Given the description of an element on the screen output the (x, y) to click on. 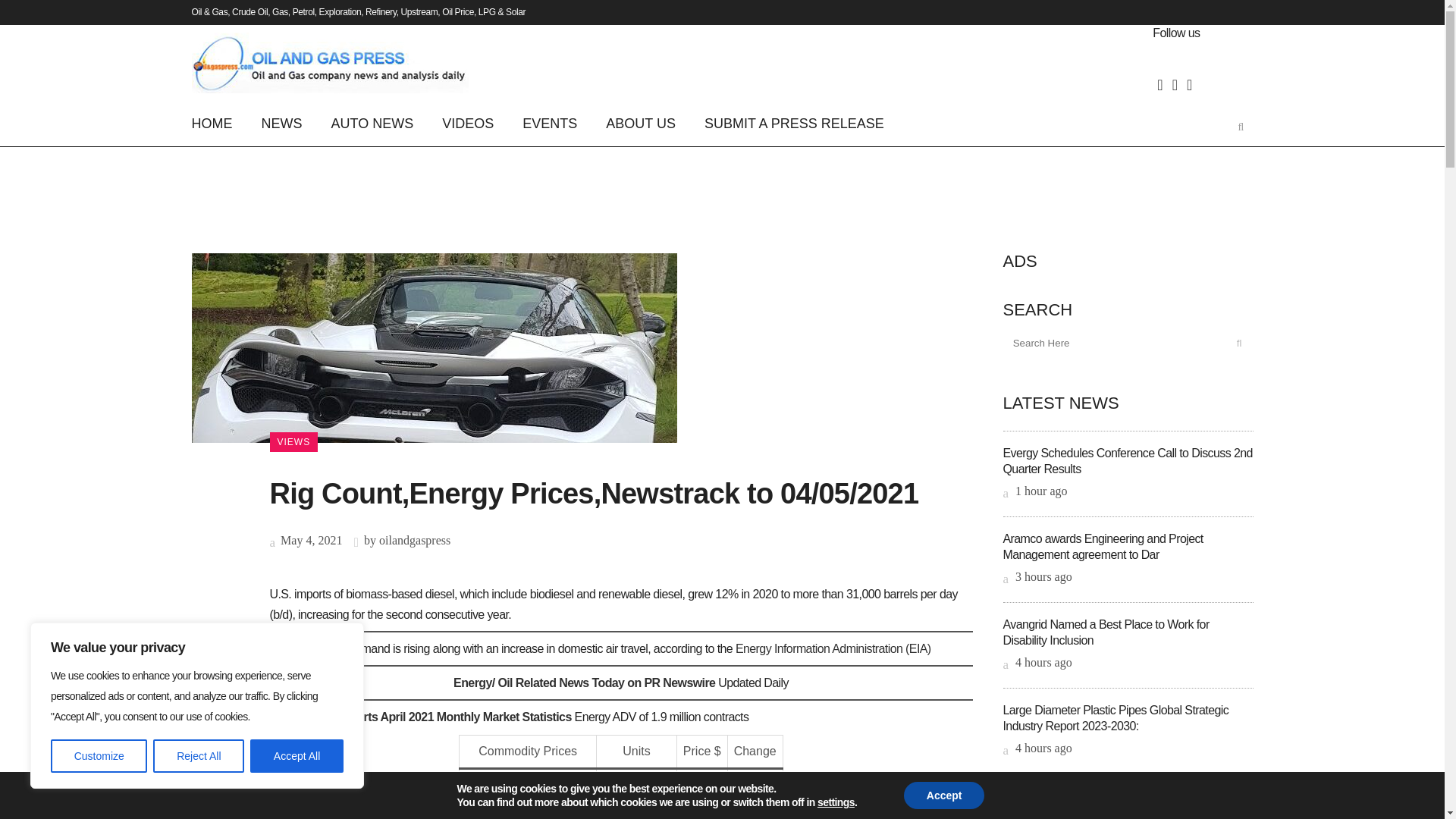
SUBMIT A PRESS RELEASE (794, 123)
Reject All (198, 756)
VIDEOS (468, 123)
AUTO NEWS (372, 123)
Avangrid Named a Best Place to Work for Disability Inclusion (1105, 632)
Accept All (296, 756)
ABOUT US (640, 123)
EVENTS (549, 123)
NEWS (282, 123)
Customize (98, 756)
HOME (218, 123)
